Given the description of an element on the screen output the (x, y) to click on. 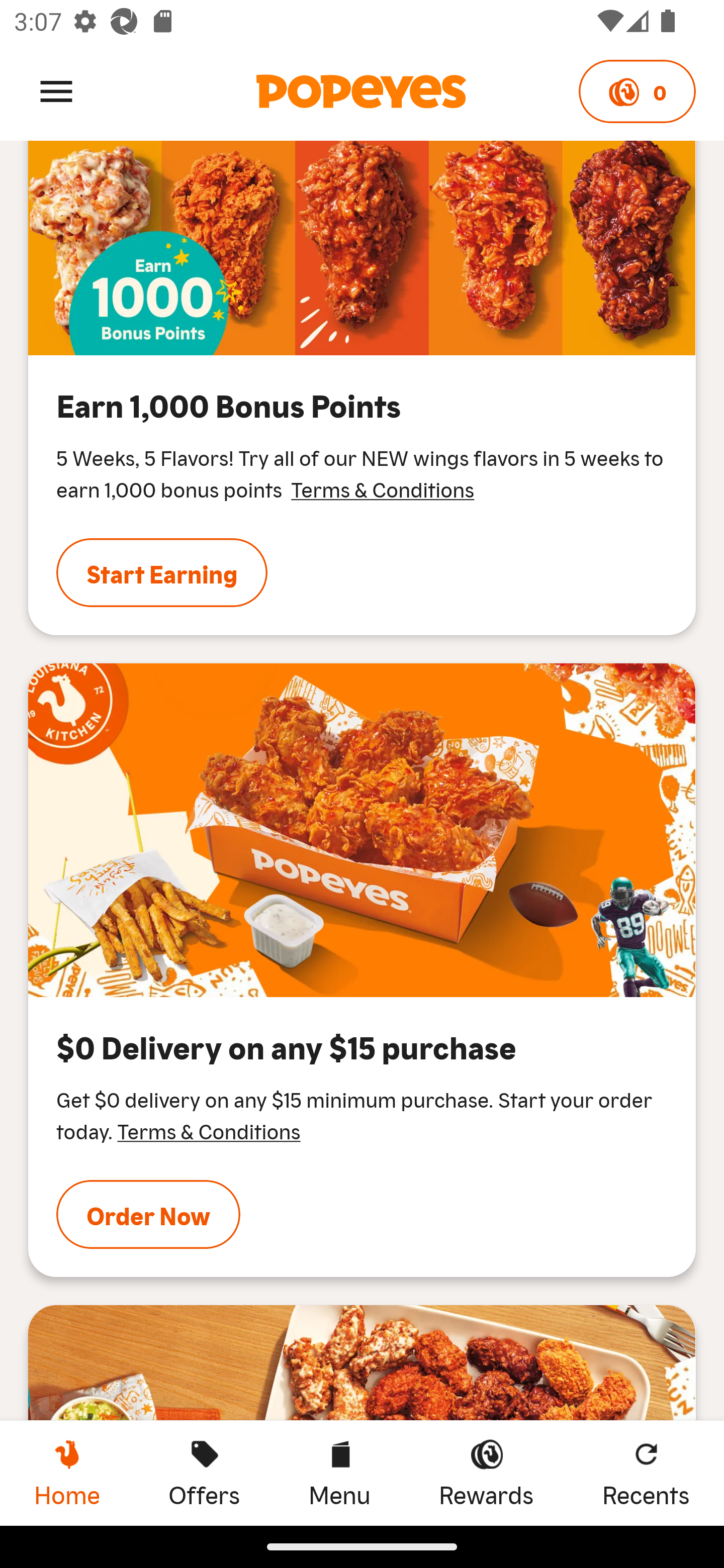
Menu  (56, 90)
0 Points 0 (636, 91)
Earn 1,000 Bonus Points (361, 248)
Start Earning (161, 571)
Popeyes Wings (361, 830)
Order Now (148, 1214)
Home, current page Home Home, current page (66, 1472)
Offers Offers Offers (203, 1472)
Menu Menu Menu (339, 1472)
Rewards Rewards Rewards (486, 1472)
Recents Recents Recents (646, 1472)
